Given the description of an element on the screen output the (x, y) to click on. 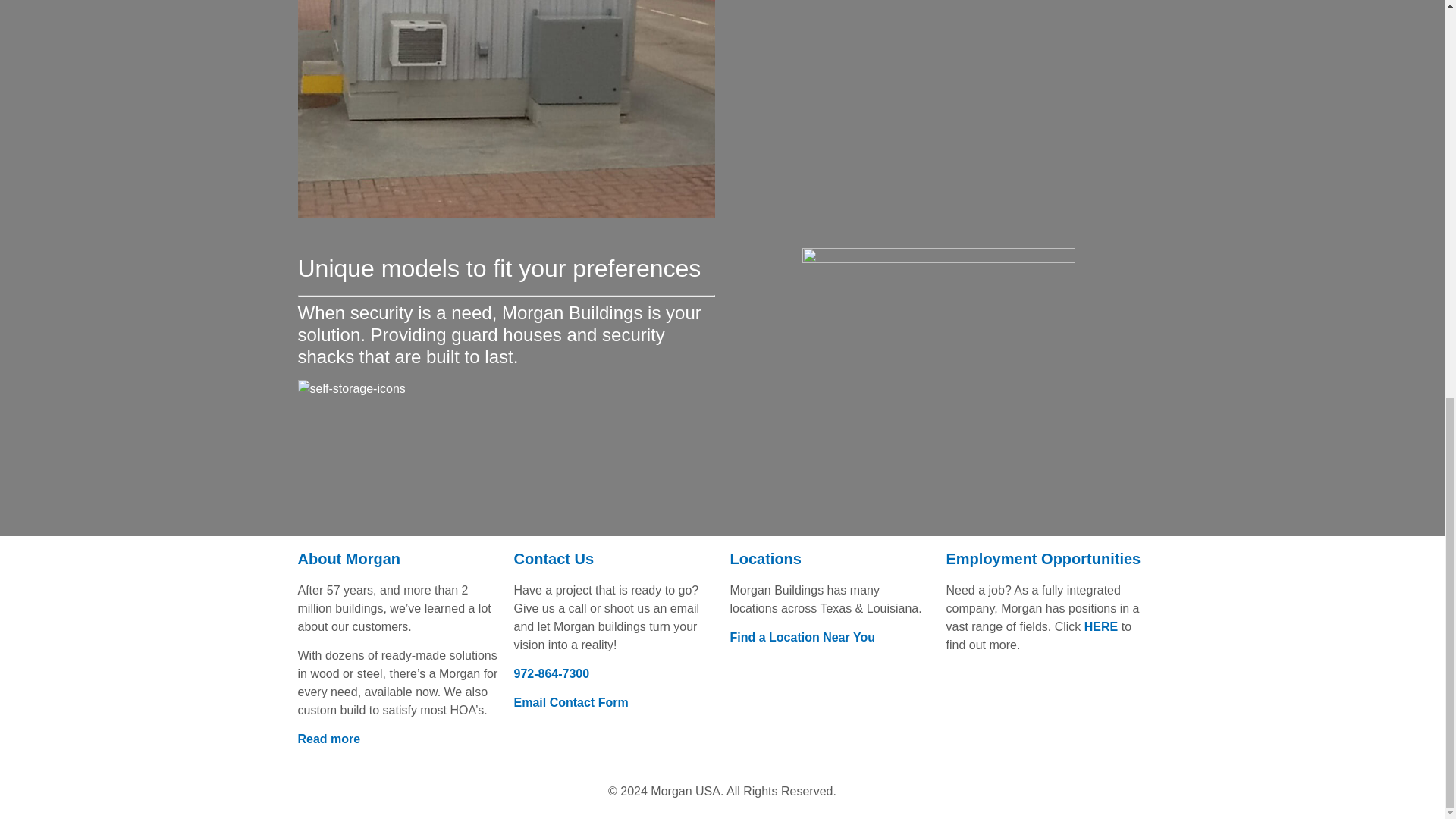
Read more (328, 738)
Email Contact Form (570, 702)
Find a Location Near You (802, 636)
972-864-7300 (551, 673)
HERE (1101, 626)
